Given the description of an element on the screen output the (x, y) to click on. 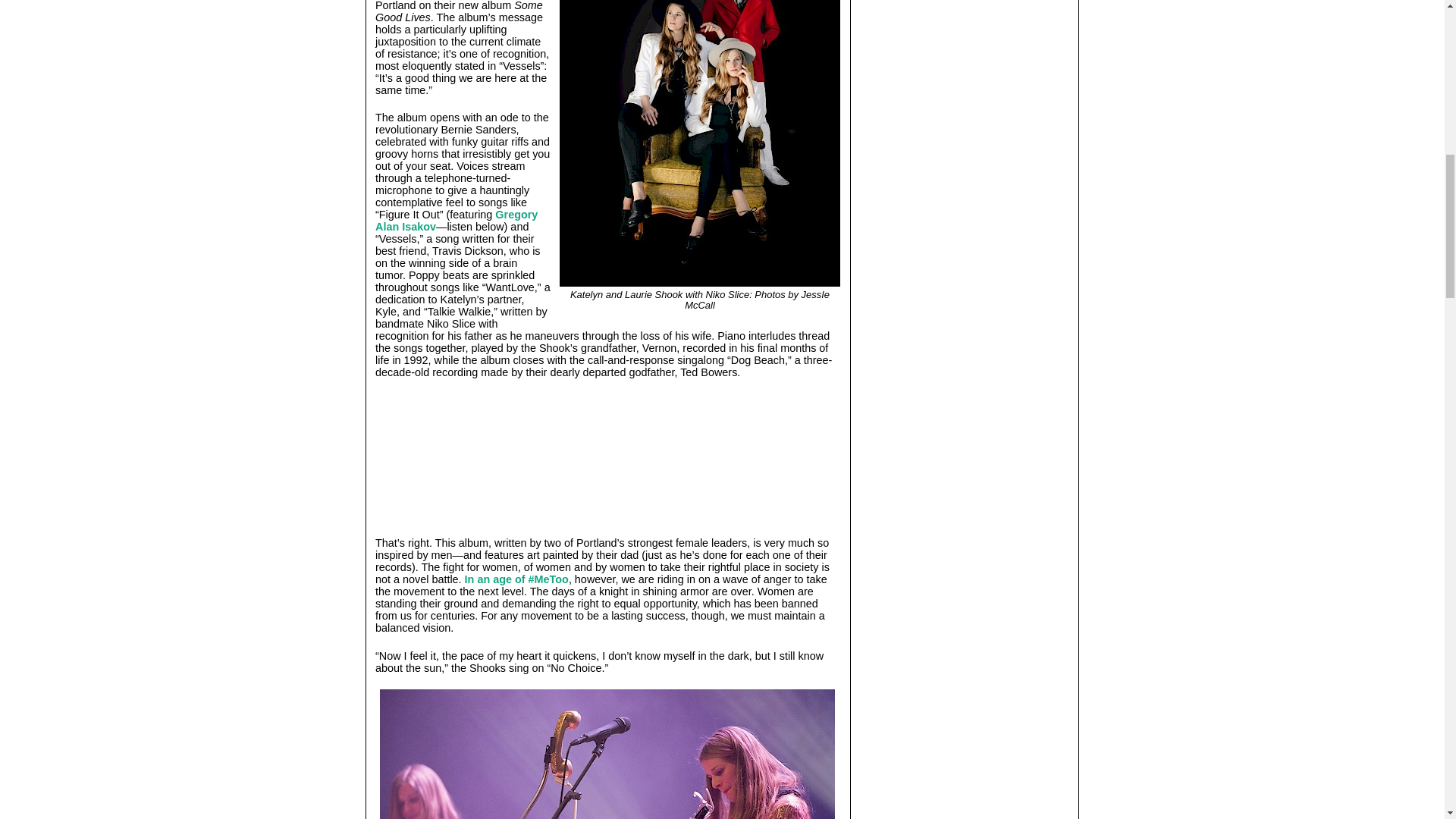
Gregory Alan Isakov (456, 220)
